Given the description of an element on the screen output the (x, y) to click on. 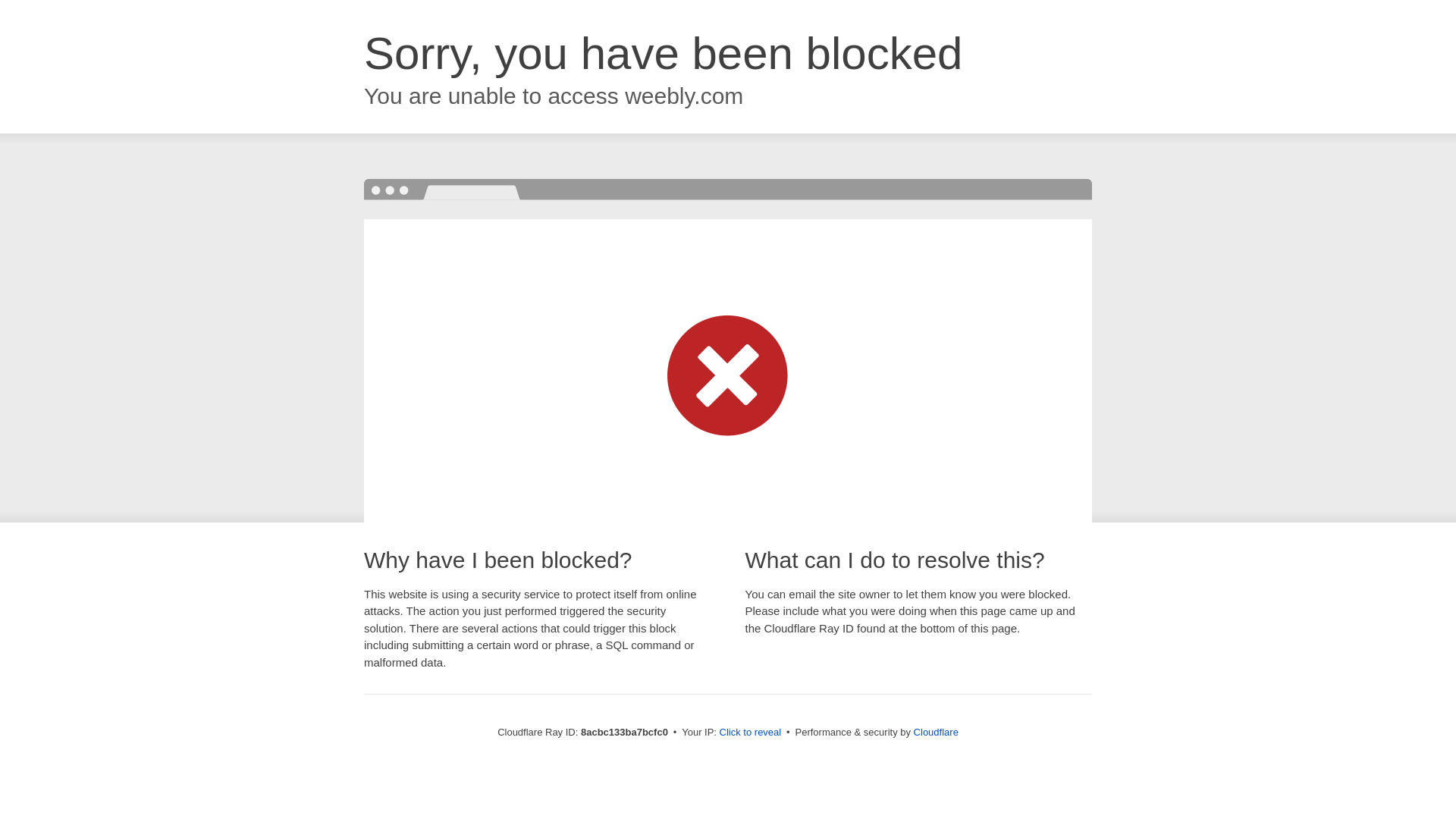
Click to reveal (750, 732)
Cloudflare (936, 731)
